Given the description of an element on the screen output the (x, y) to click on. 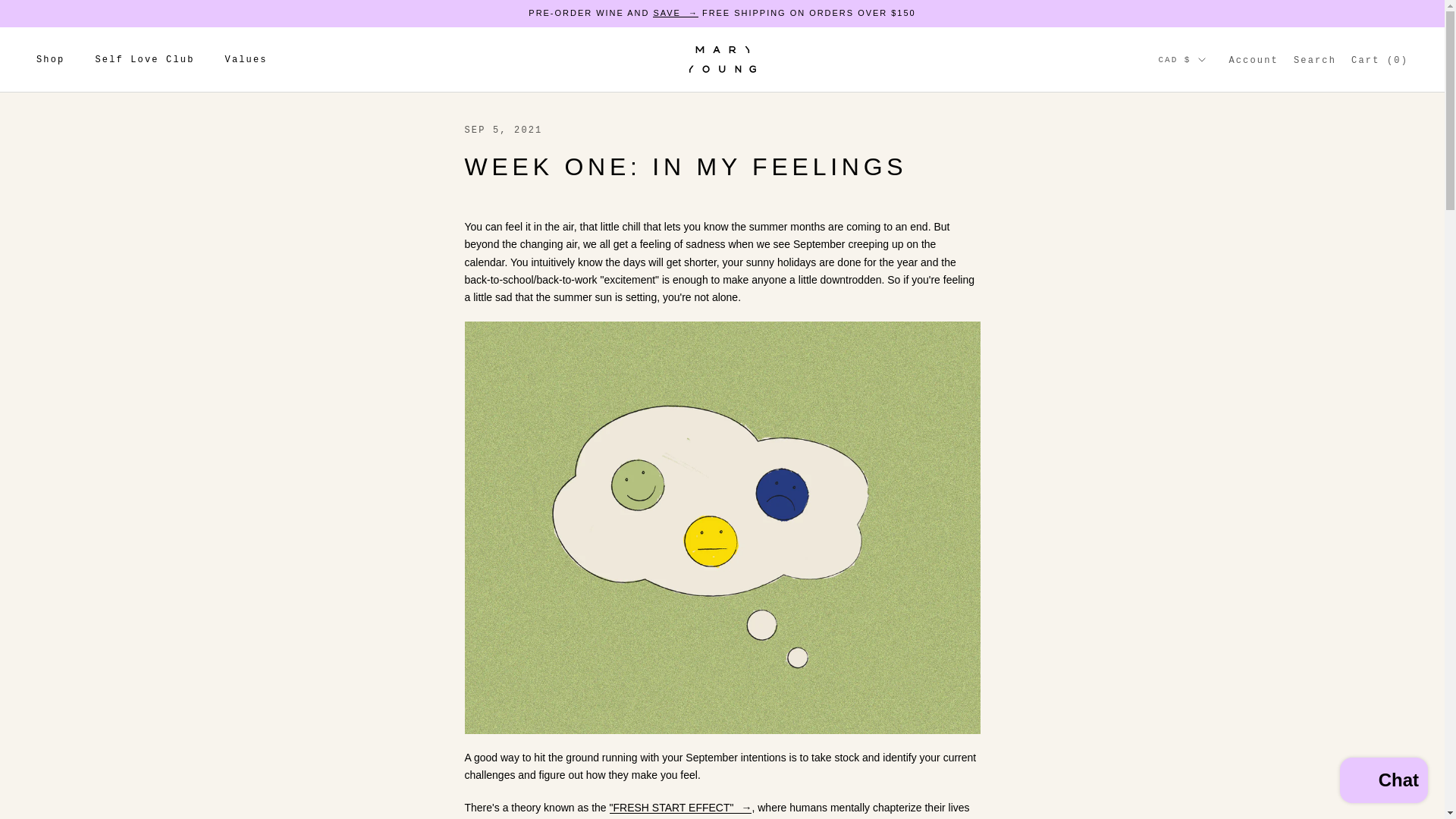
Shopify online store chat (1383, 781)
PRE-ORDER (674, 12)
Values (246, 59)
SAVE (674, 12)
Self Love Club (143, 59)
